Given the description of an element on the screen output the (x, y) to click on. 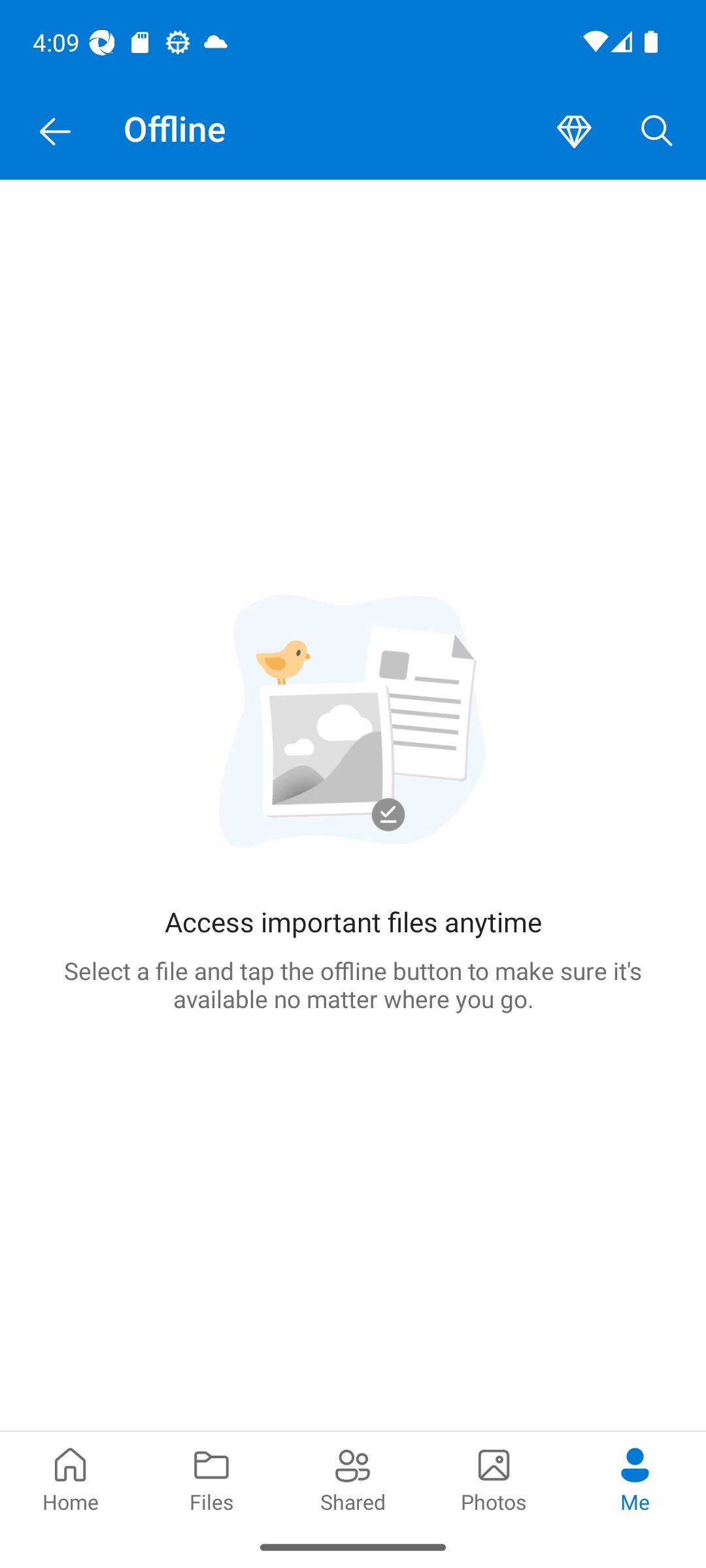
Navigate Up (55, 131)
Premium button (574, 131)
Search button (656, 131)
Home pivot Home (70, 1478)
Files pivot Files (211, 1478)
Shared pivot Shared (352, 1478)
Photos pivot Photos (493, 1478)
